Given the description of an element on the screen output the (x, y) to click on. 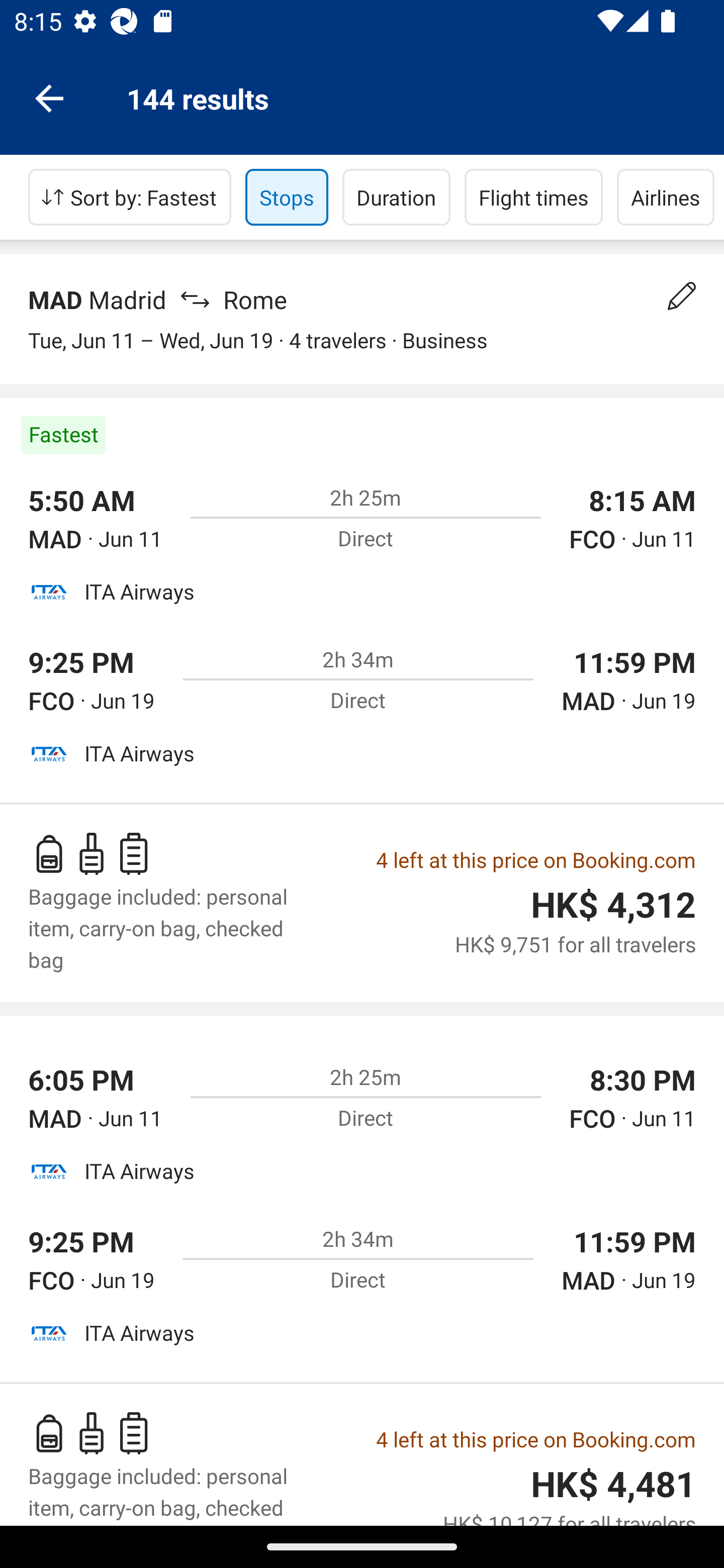
Navigate up (49, 97)
Sort by: Fastest (129, 197)
Stops (286, 197)
Duration (396, 197)
Flight times (533, 197)
Airlines (665, 197)
Change your search details (681, 296)
HK$ 4,312 (612, 905)
HK$ 4,481 (612, 1483)
